Given the description of an element on the screen output the (x, y) to click on. 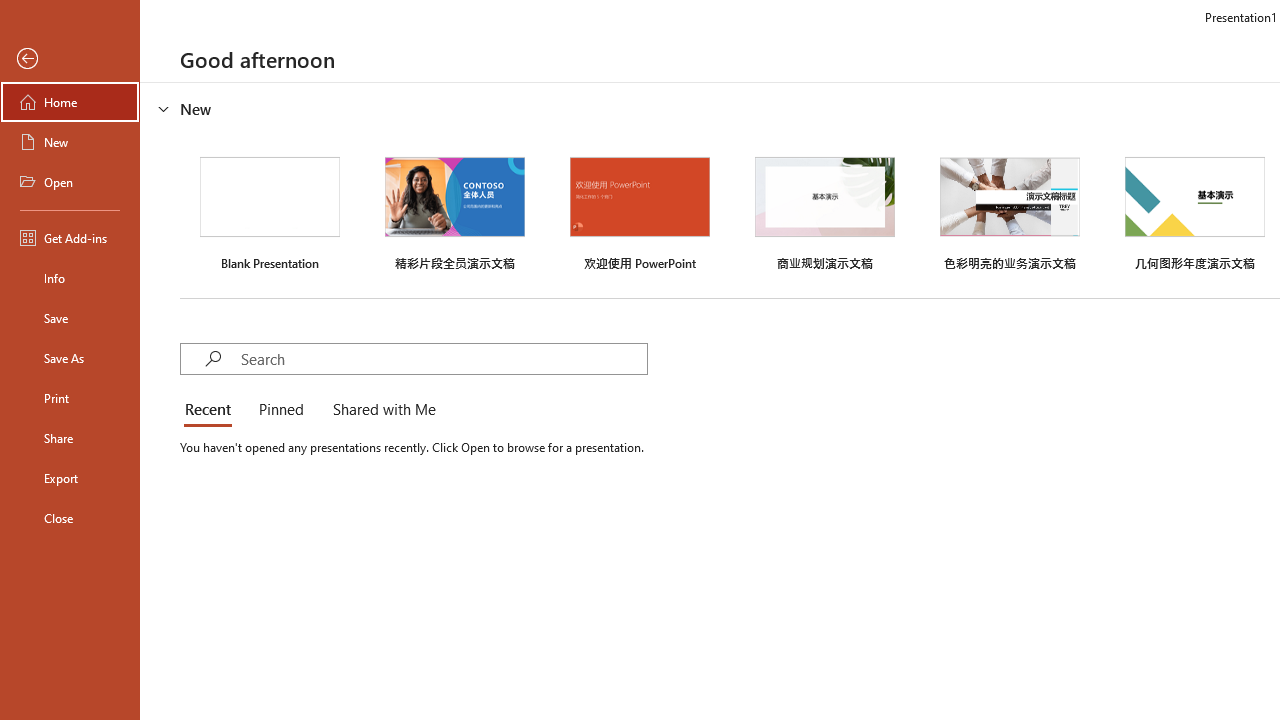
Export (69, 477)
Shared with Me (379, 410)
Save As (69, 357)
Print (69, 398)
